Given the description of an element on the screen output the (x, y) to click on. 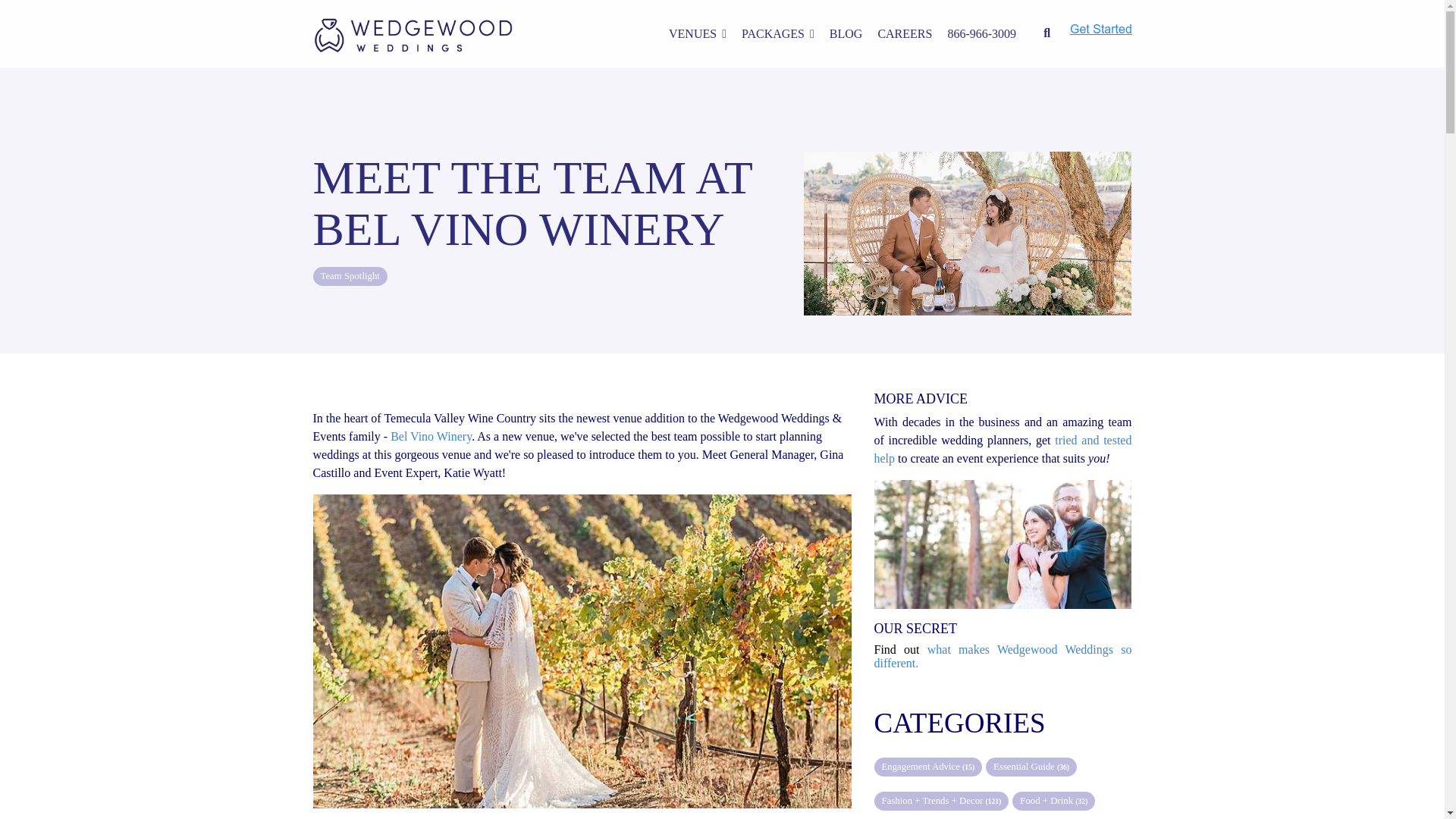
CAREERS (904, 33)
VENUES (697, 33)
PACKAGES (777, 33)
Wedgewood Weddings - Remarkable Special Occasions (413, 34)
866-966-3009 (981, 33)
BLOG (846, 33)
